Given the description of an element on the screen output the (x, y) to click on. 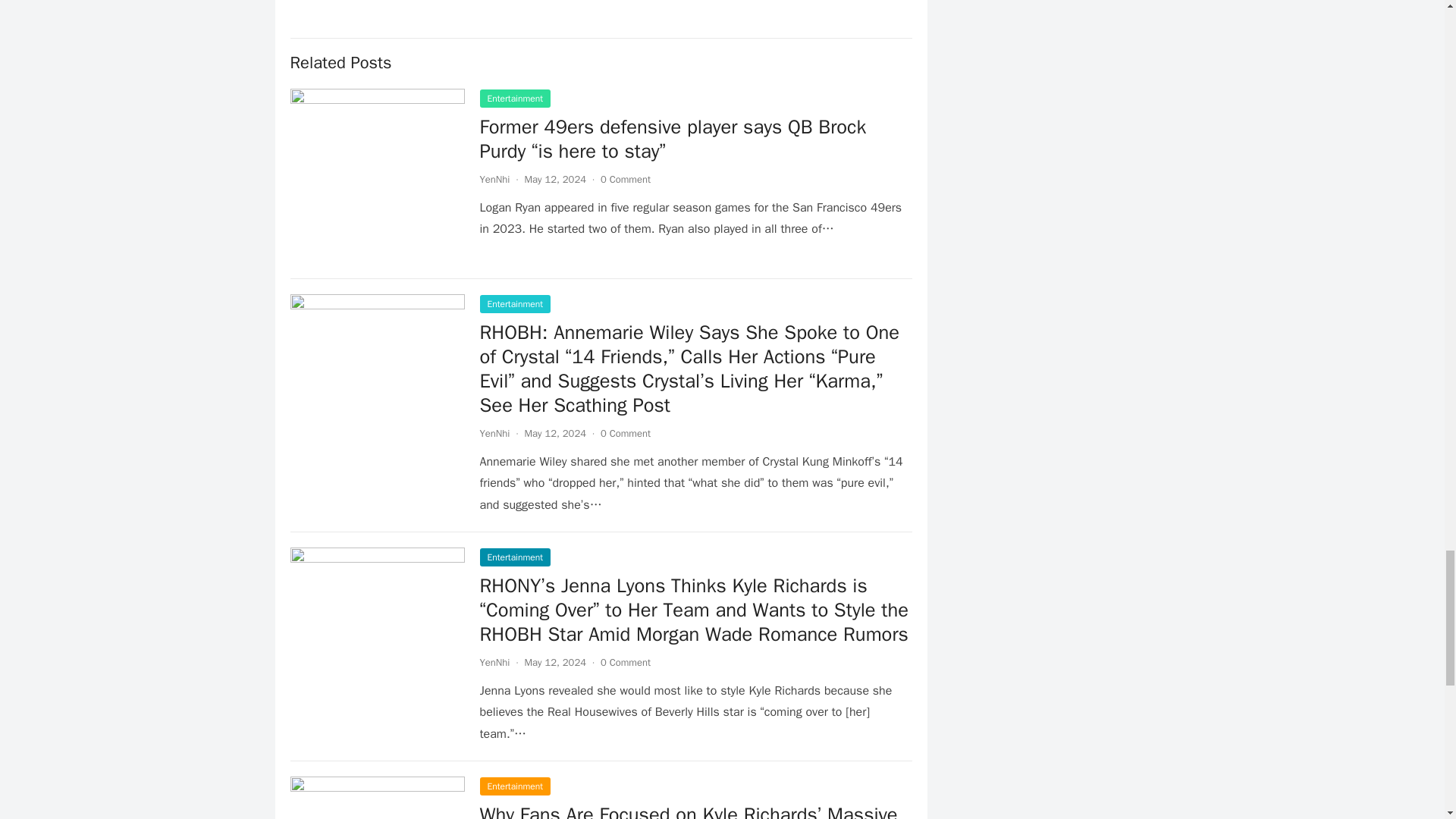
YenNhi (494, 178)
Posts by YenNhi (494, 662)
Posts by YenNhi (494, 432)
Entertainment (514, 556)
YenNhi (494, 662)
YenNhi (494, 432)
0 Comment (624, 662)
0 Comment (624, 432)
Entertainment (514, 303)
0 Comment (624, 178)
